Given the description of an element on the screen output the (x, y) to click on. 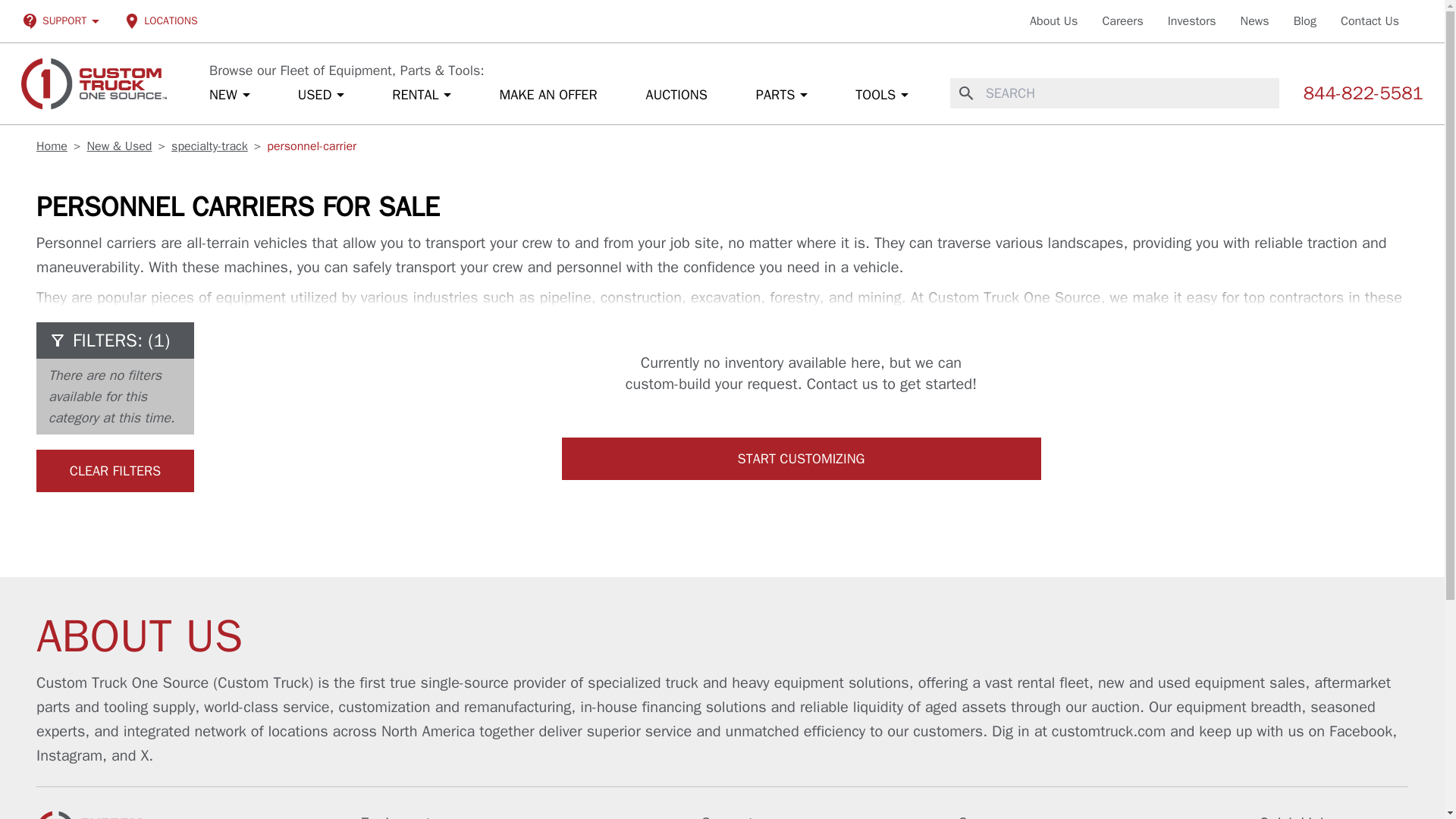
LOCATIONS (161, 21)
Blog (1305, 20)
News (1254, 20)
About Us (1053, 20)
RENTAL (421, 93)
USED (321, 93)
Contact Us (1369, 20)
Careers (1122, 20)
NEW (229, 93)
SUPPORT (62, 21)
